Given the description of an element on the screen output the (x, y) to click on. 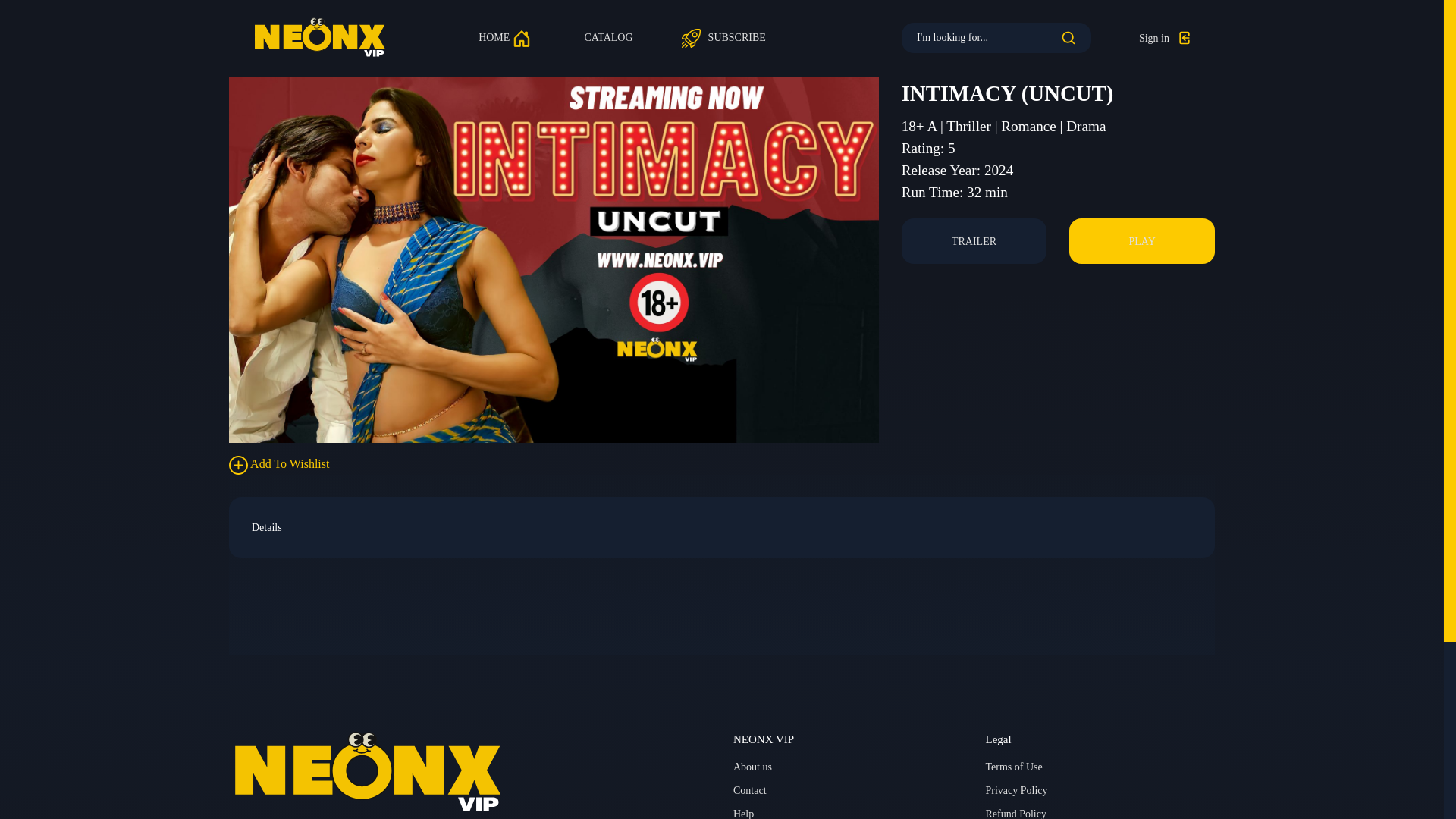
Refund Policy (1015, 812)
Privacy Policy (1015, 790)
SUBSCRIBE (721, 37)
TRAILER (973, 240)
CATALOG (607, 37)
About us (752, 766)
Terms of Use (1013, 766)
Add To Wishlist (278, 465)
Sign in (1165, 37)
Contact (750, 790)
